Given the description of an element on the screen output the (x, y) to click on. 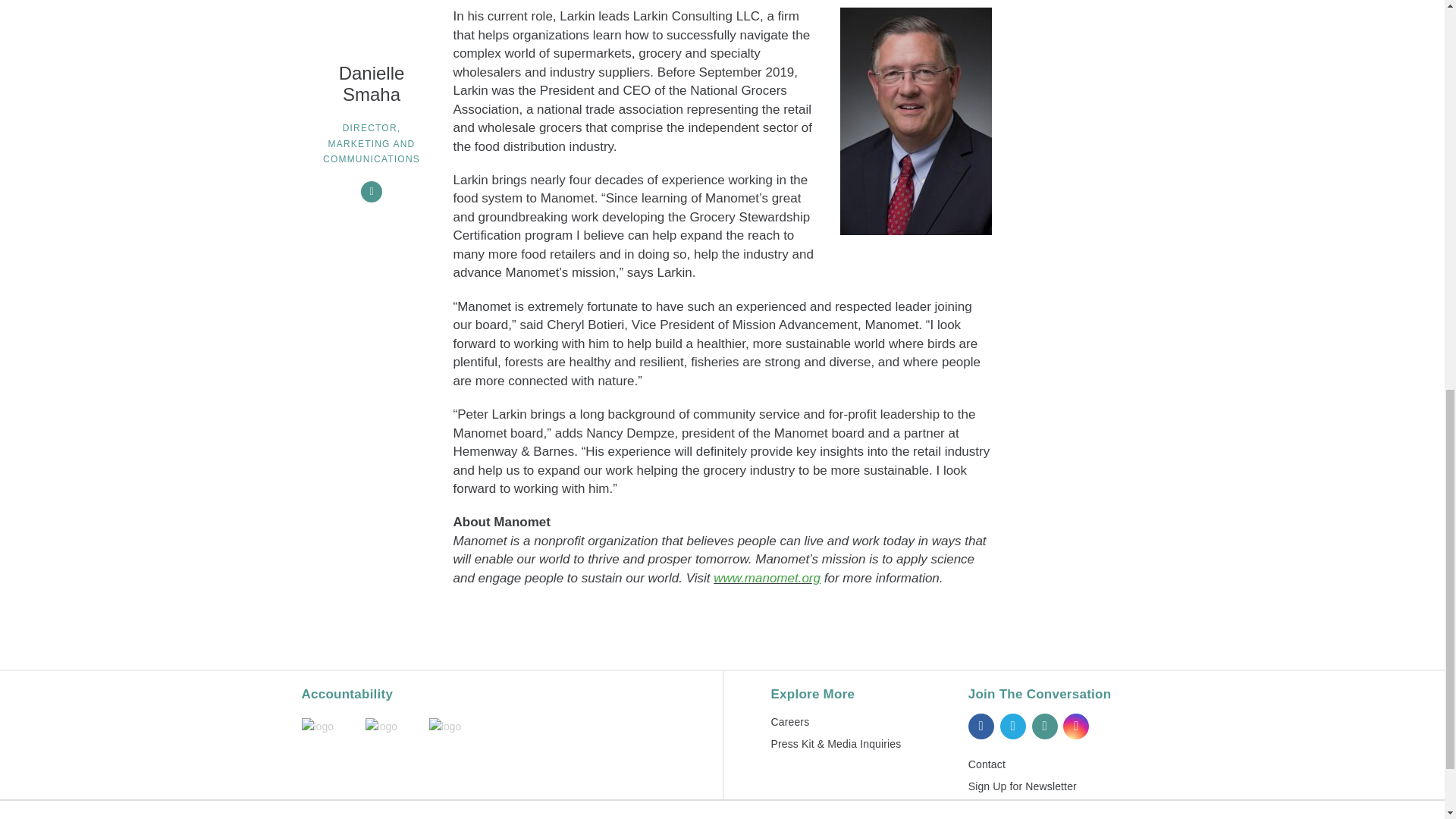
email (371, 191)
Linkedin (1043, 726)
Instagram (1075, 726)
Facebook (981, 726)
Twitter (1013, 726)
